Given the description of an element on the screen output the (x, y) to click on. 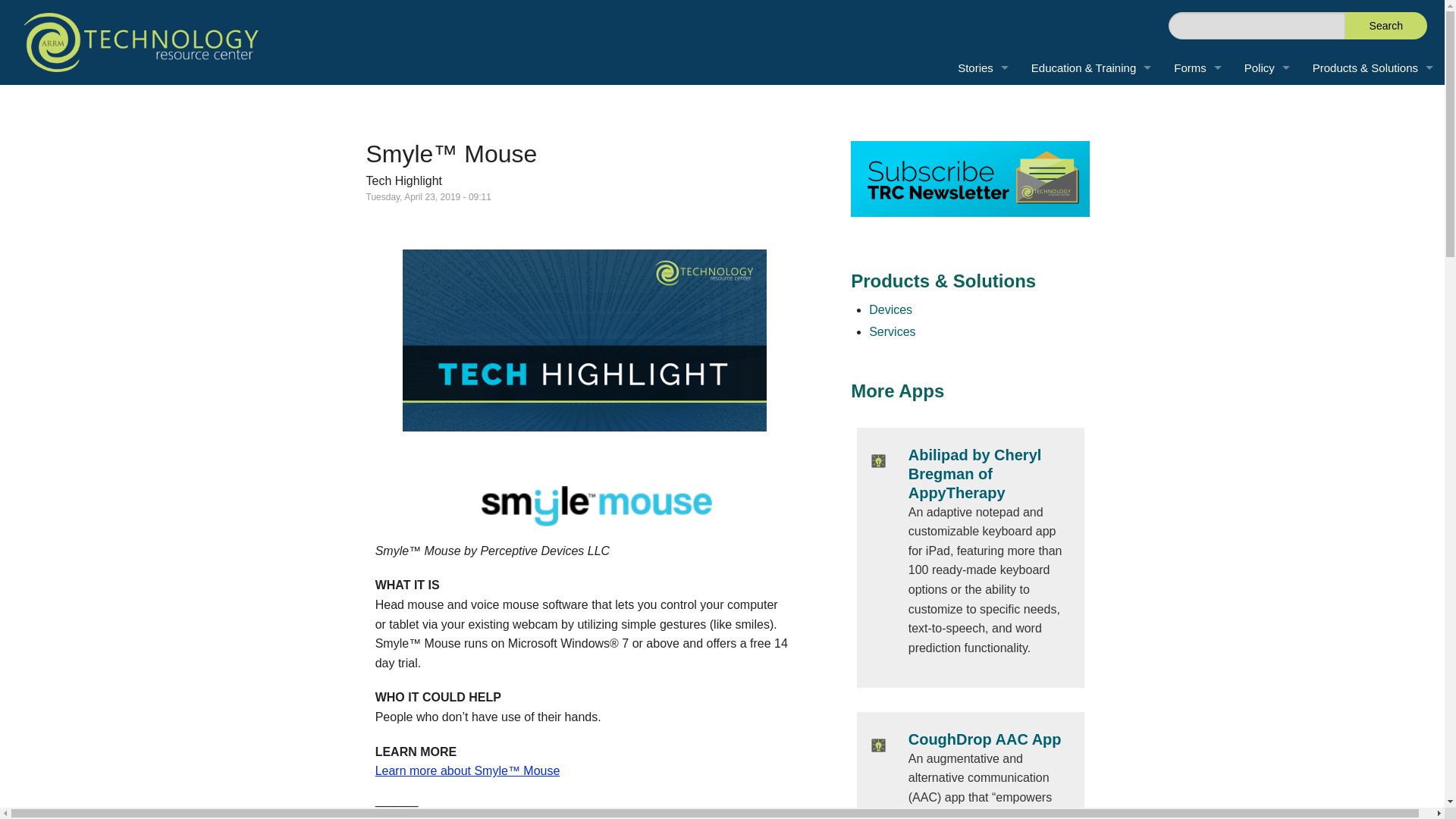
Interviews (983, 170)
Search (1385, 25)
Tech 101 (1090, 204)
Case Studies (983, 135)
Assessments (1197, 135)
Worksheets (1197, 101)
Forms (1197, 67)
Search (1385, 25)
Advocate (947, 135)
Advocate (947, 135)
Technology Resource Center Home (141, 42)
Mentors (1090, 272)
Provider (947, 101)
Mentors (1090, 272)
Articles (1090, 135)
